Given the description of an element on the screen output the (x, y) to click on. 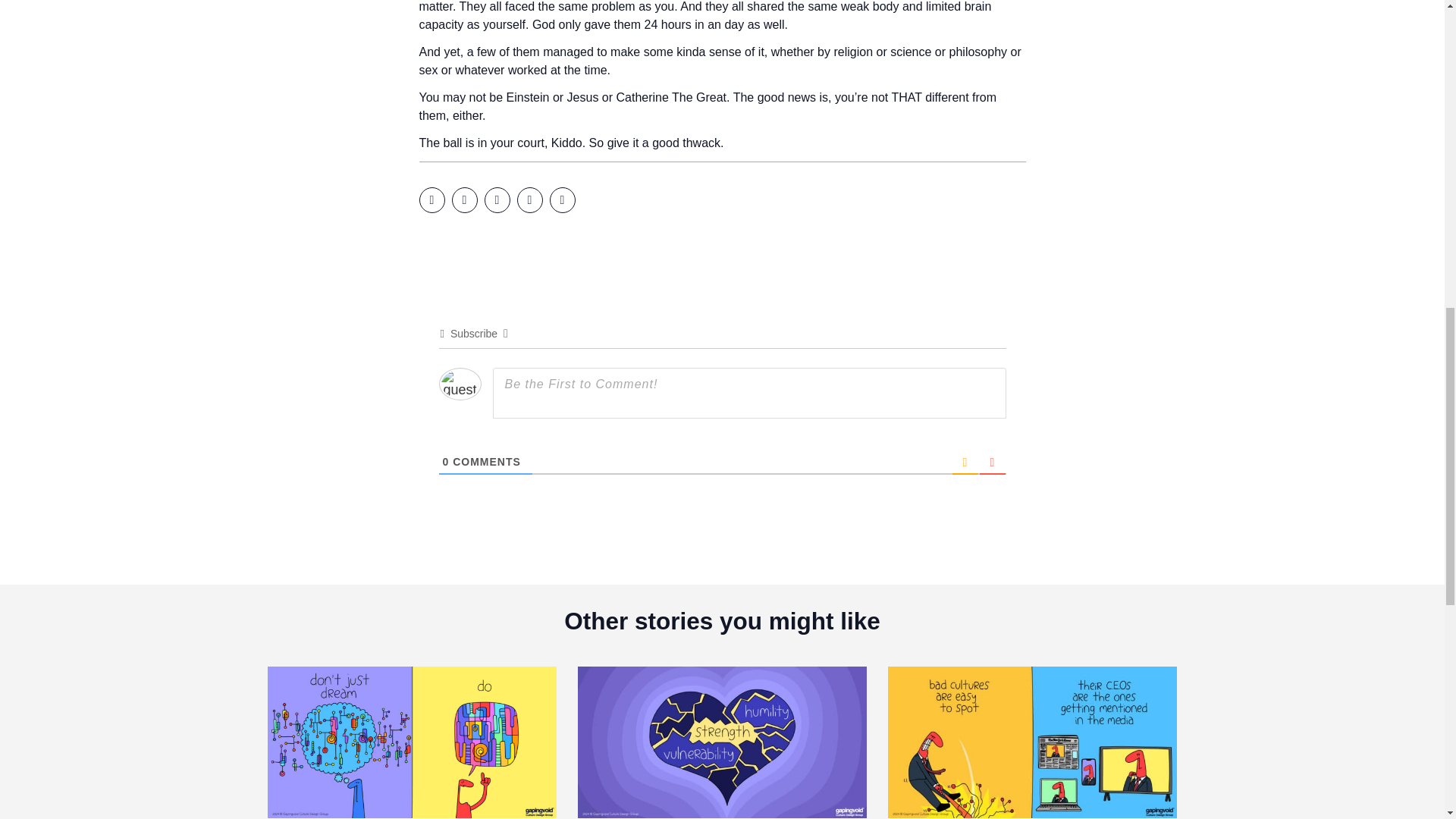
0 (445, 461)
Email this  (561, 199)
Add this to LinkedIn (496, 199)
Tweet this ! (464, 199)
Submit this to Pinterest (529, 199)
Share this on Facebook (431, 199)
